Given the description of an element on the screen output the (x, y) to click on. 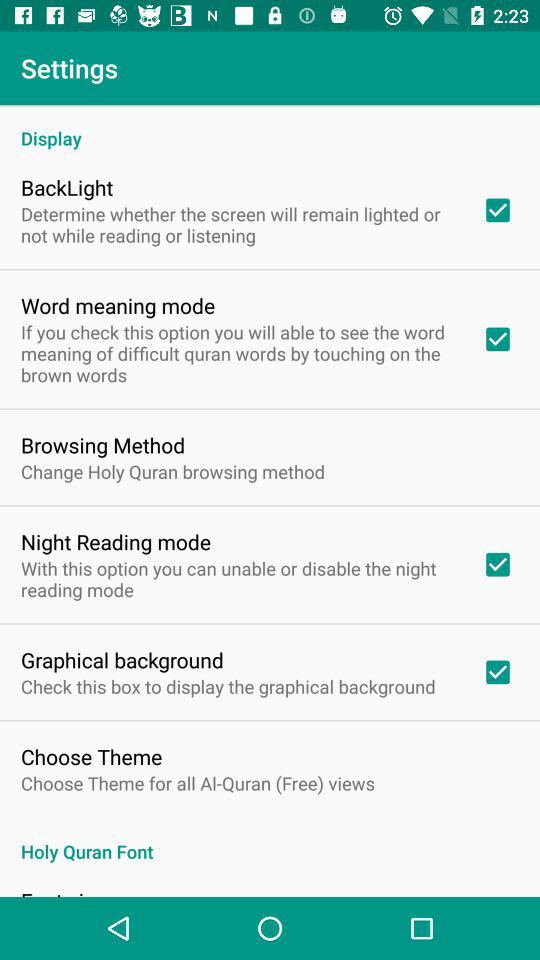
flip to backlight item (67, 187)
